Given the description of an element on the screen output the (x, y) to click on. 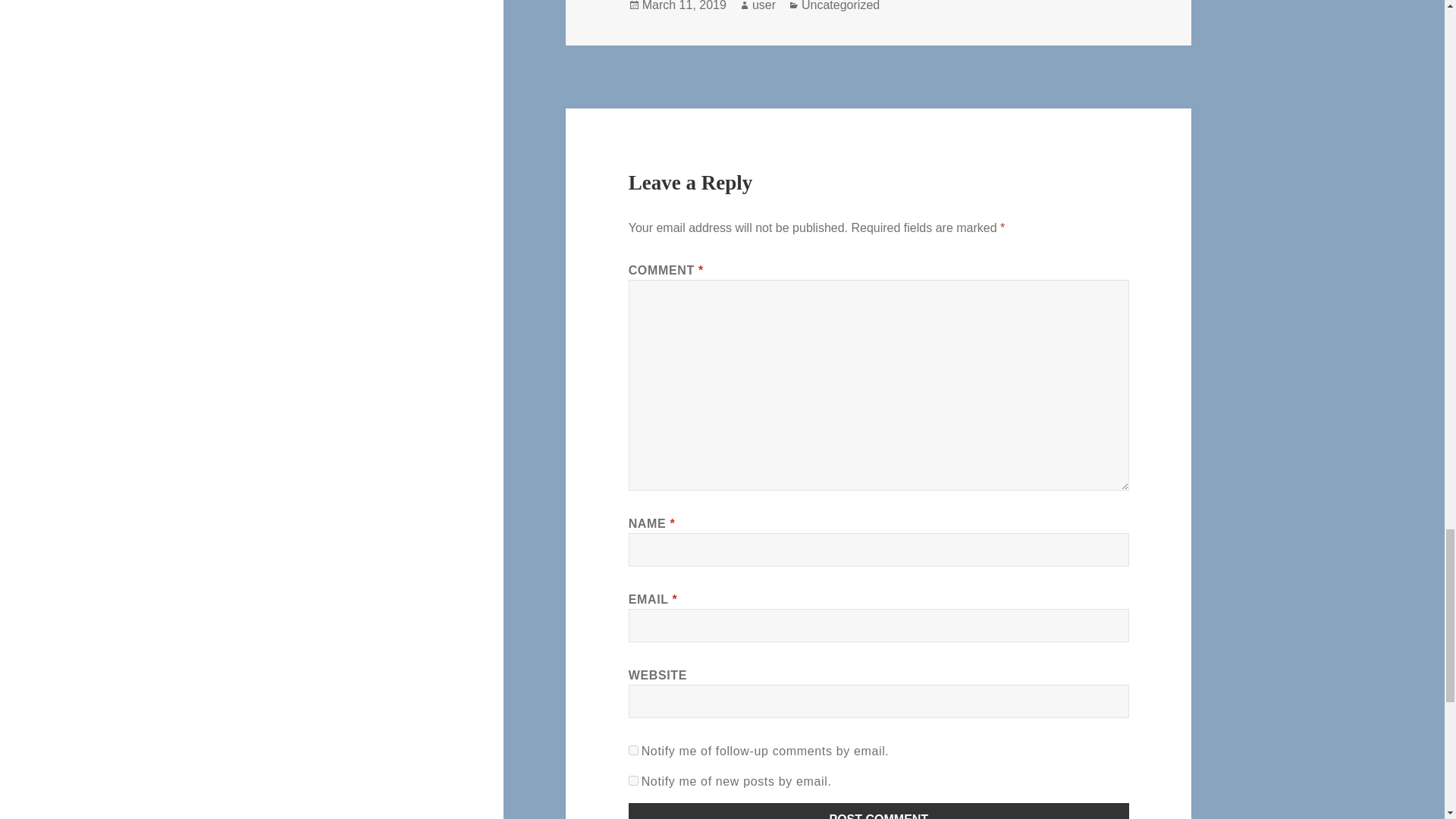
March 11, 2019 (684, 6)
Post Comment (878, 811)
Uncategorized (840, 6)
user (764, 6)
Post Comment (878, 811)
subscribe (633, 750)
subscribe (633, 780)
